Given the description of an element on the screen output the (x, y) to click on. 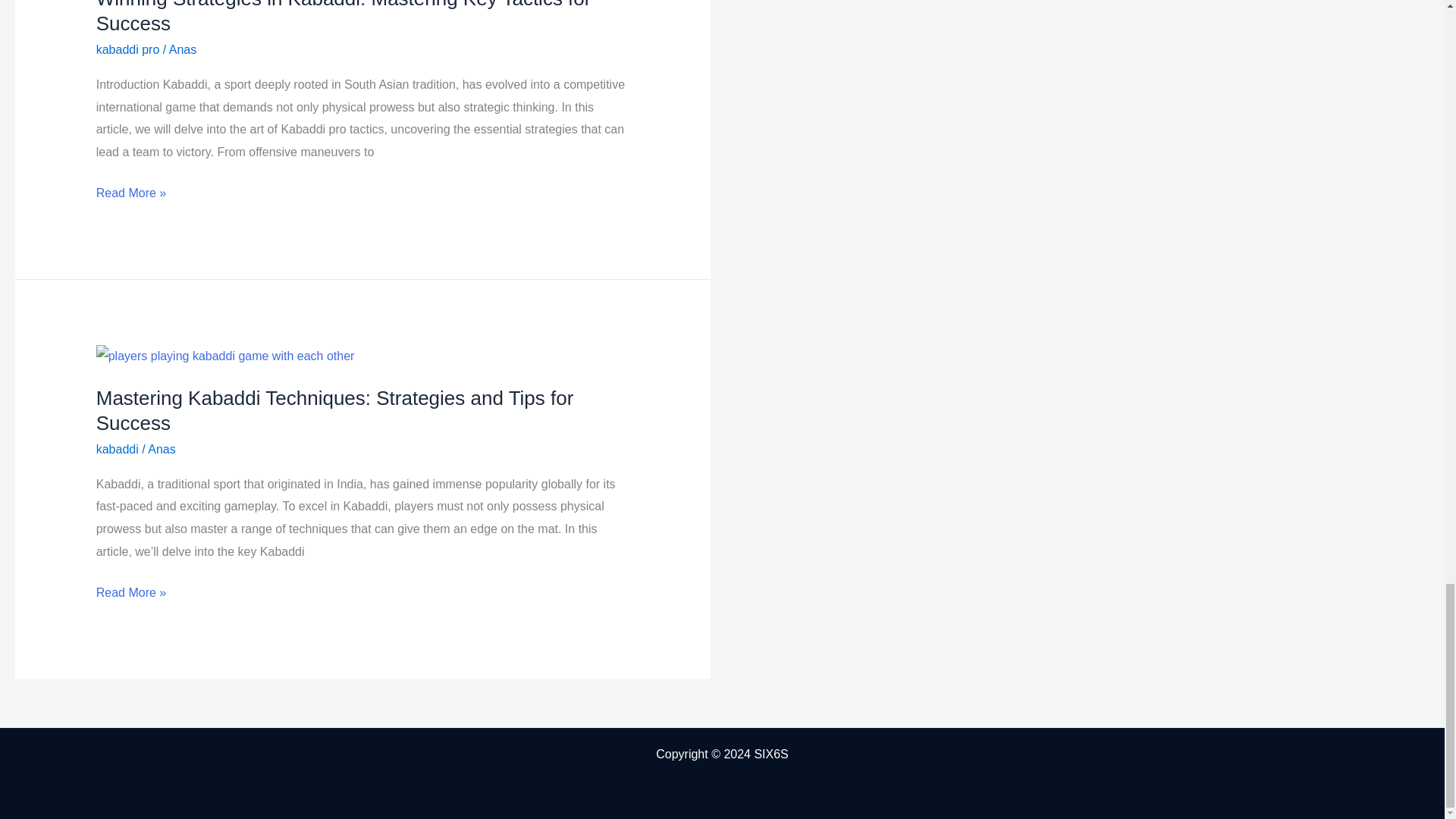
View all posts by Anas (161, 449)
Anas (161, 449)
Anas (182, 49)
kabaddi pro (128, 49)
kabaddi (117, 449)
View all posts by Anas (182, 49)
